Given the description of an element on the screen output the (x, y) to click on. 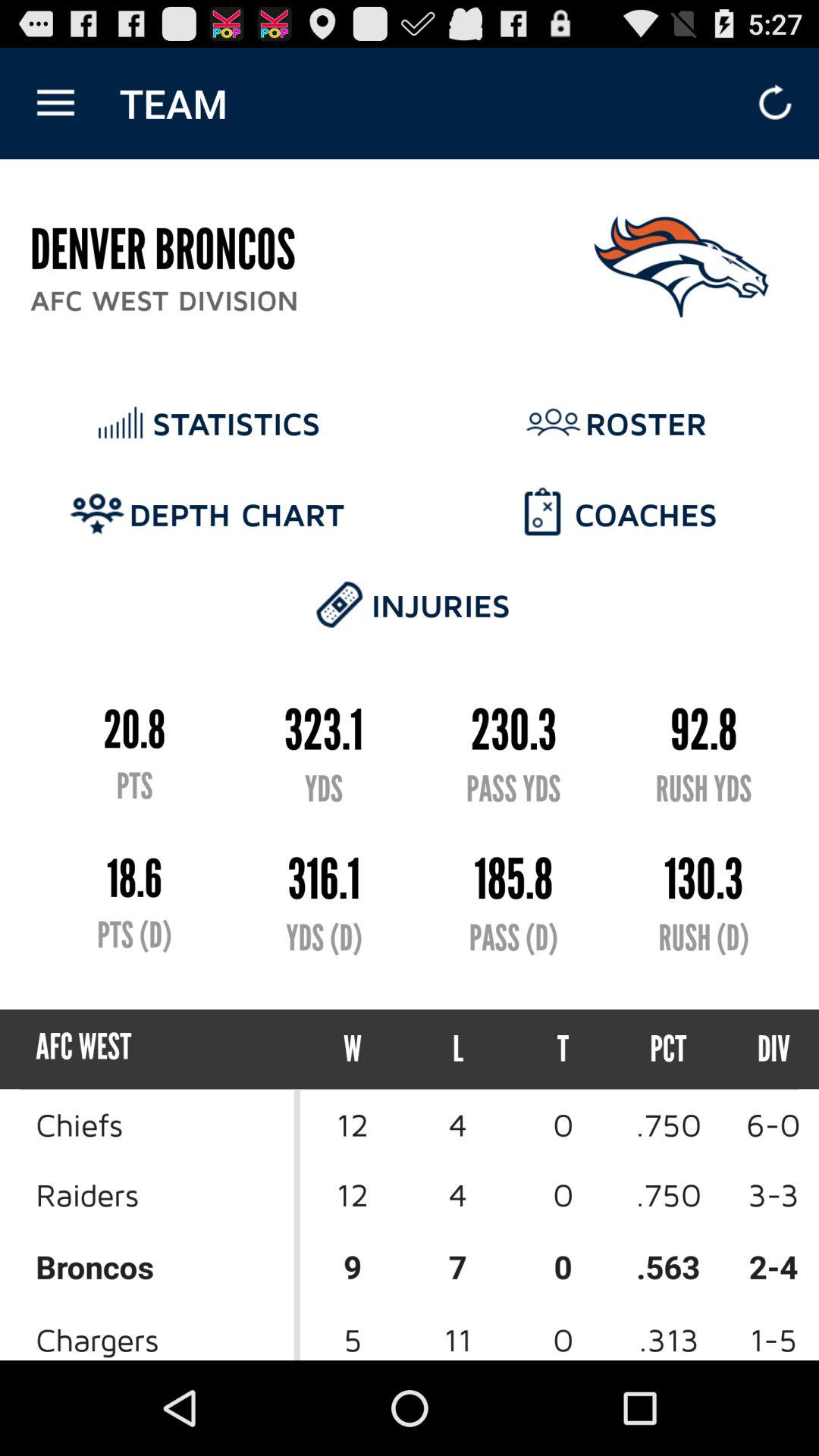
turn on item next to team icon (55, 103)
